Given the description of an element on the screen output the (x, y) to click on. 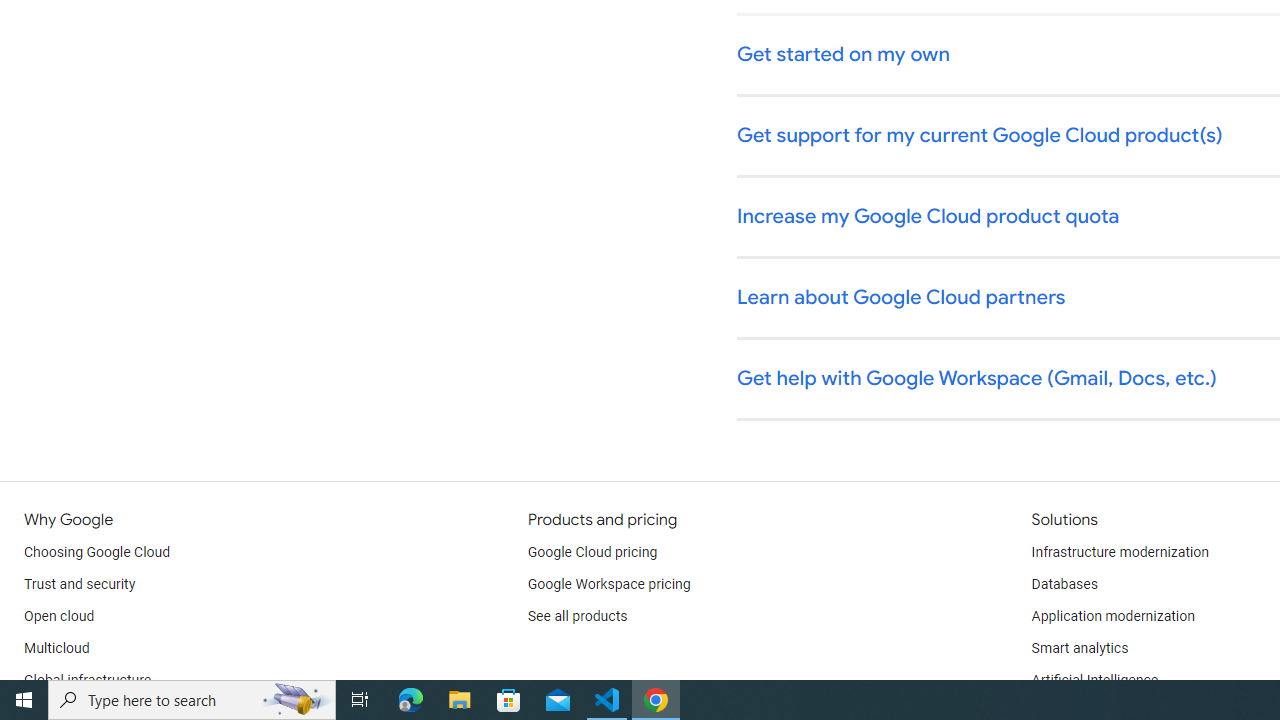
Multicloud (56, 648)
Databases (1064, 584)
Global infrastructure (88, 680)
Open cloud (59, 616)
Artificial Intelligence (1094, 680)
Google Cloud pricing (592, 552)
Smart analytics (1079, 648)
Trust and security (79, 584)
Google Workspace pricing (609, 584)
Infrastructure modernization (1119, 552)
Choosing Google Cloud (97, 552)
Application modernization (1112, 616)
See all products (577, 616)
